Given the description of an element on the screen output the (x, y) to click on. 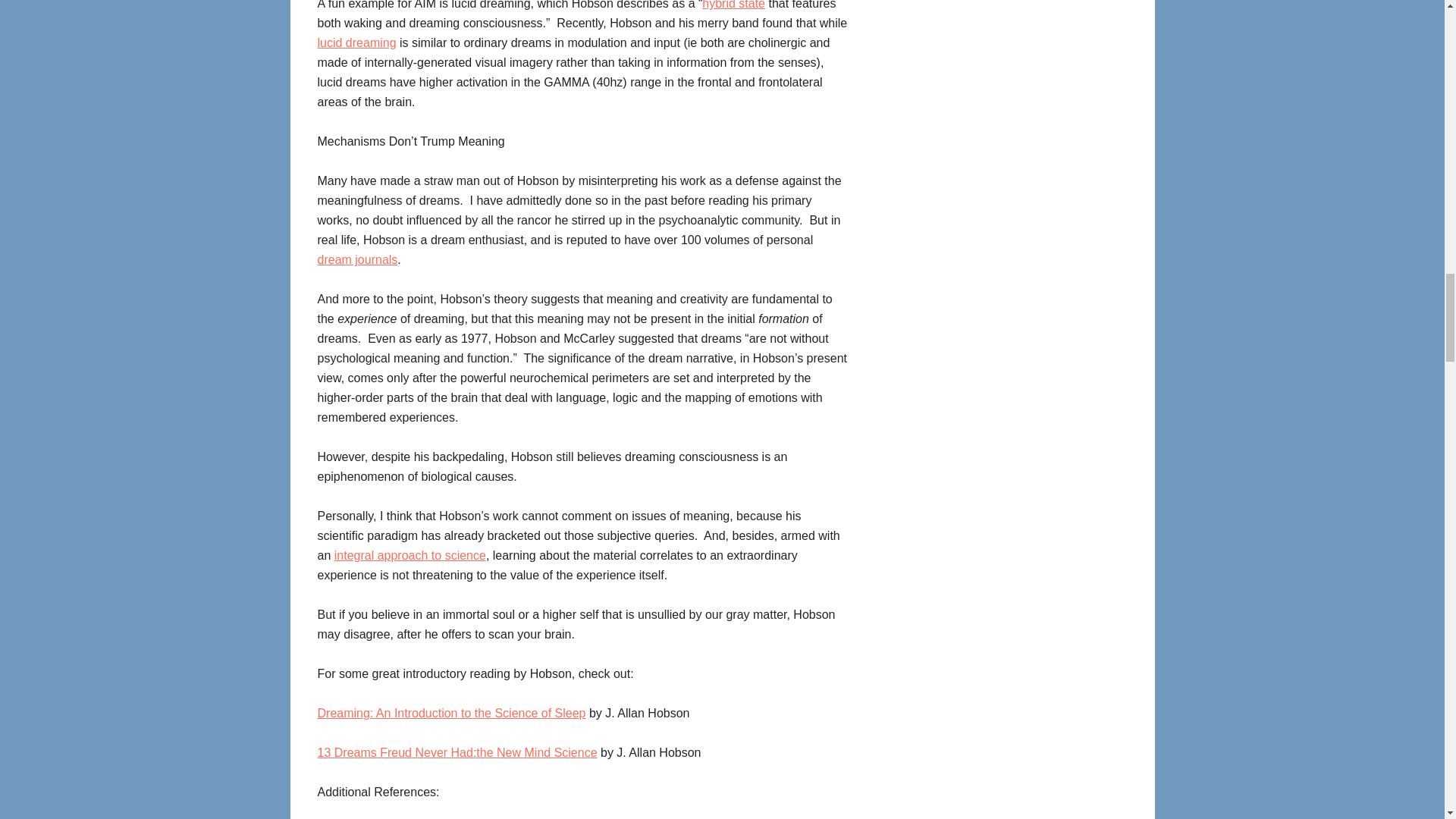
integral approach to science (410, 554)
hybrid state (733, 4)
dream journals (357, 259)
how to keep your own dream journal (357, 259)
Dreaming: An Introduction to the Science of Sleep (451, 722)
lucid dreaming (356, 42)
13 Dreams Freud Never Had:the New Mind Science (456, 752)
